Given the description of an element on the screen output the (x, y) to click on. 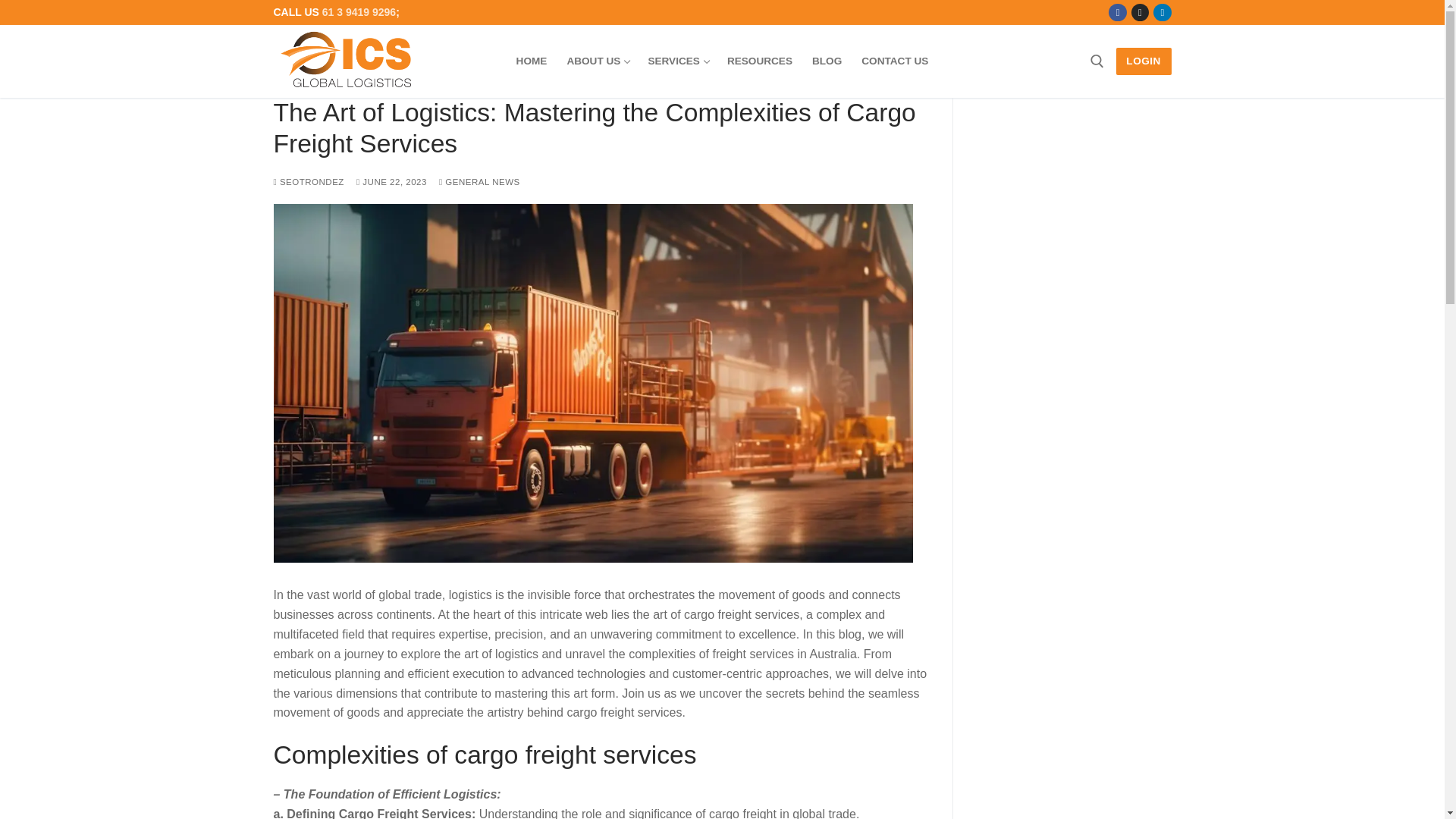
Facebook (596, 61)
61 3 9419 9296 (1117, 12)
LOGIN (358, 11)
LinkedIn (1144, 61)
CONTACT US (1162, 12)
Instagram (894, 61)
HOME (677, 61)
RESOURCES (1139, 12)
